Given the description of an element on the screen output the (x, y) to click on. 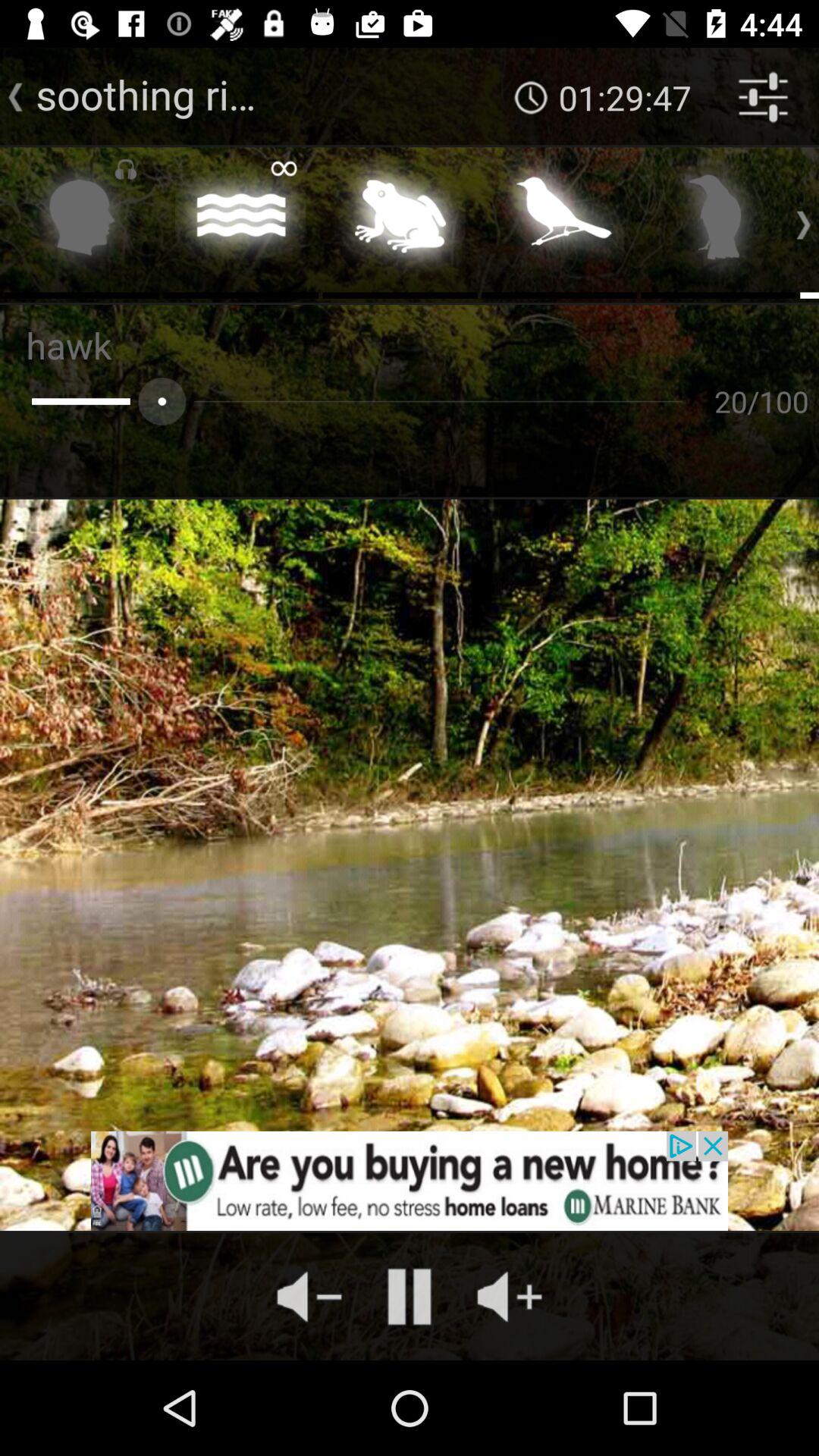
bird sounds (559, 221)
